Given the description of an element on the screen output the (x, y) to click on. 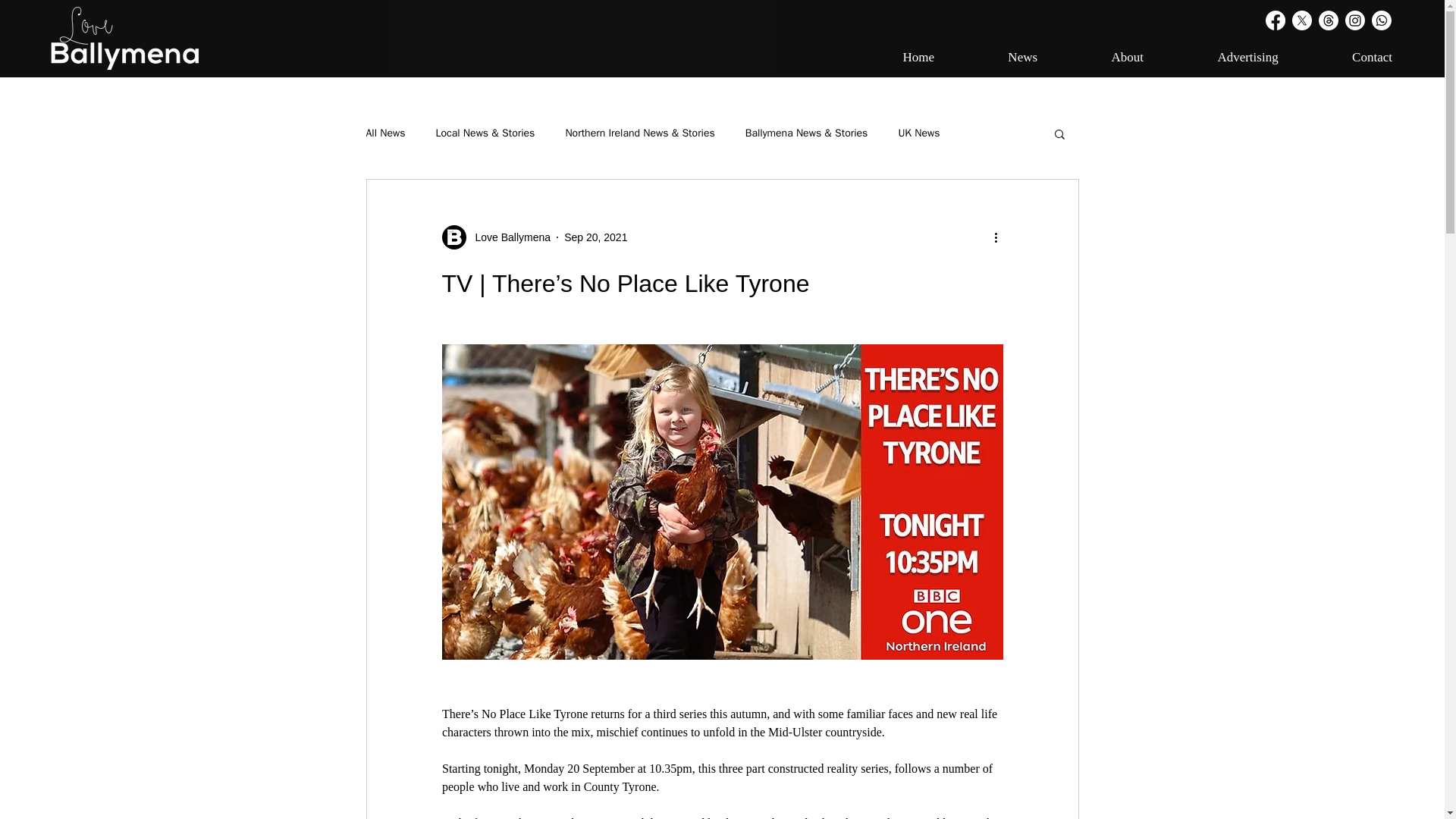
About (1101, 57)
All News (384, 133)
News (996, 57)
Contact (1345, 57)
Love Ballymena (507, 236)
UK News (918, 133)
Sep 20, 2021 (595, 236)
Home (892, 57)
Advertising (1121, 57)
